Given the description of an element on the screen output the (x, y) to click on. 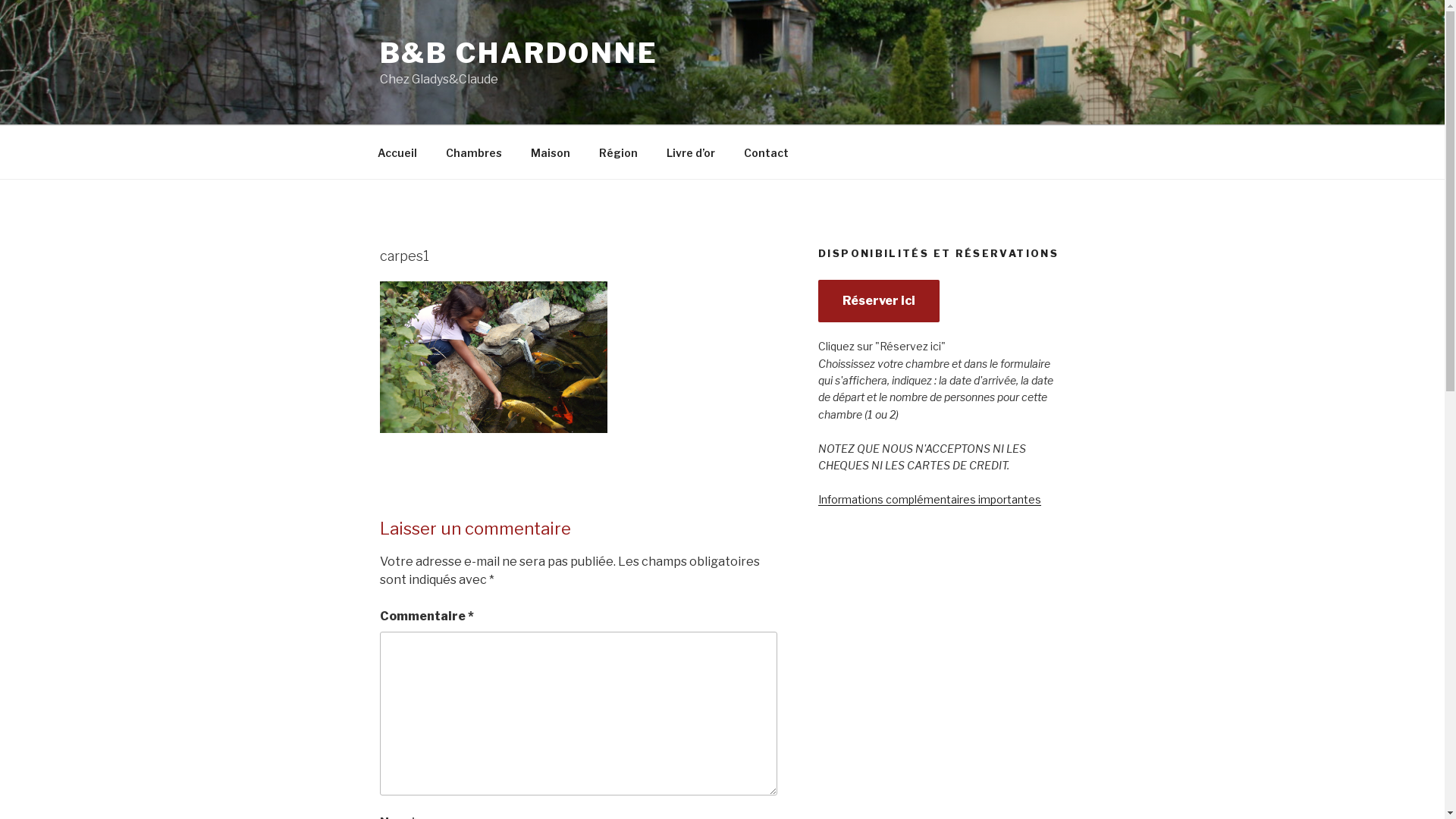
Contact Element type: text (766, 151)
Chambres Element type: text (473, 151)
Maison Element type: text (550, 151)
Accueil Element type: text (396, 151)
B&B CHARDONNE Element type: text (518, 52)
